Given the description of an element on the screen output the (x, y) to click on. 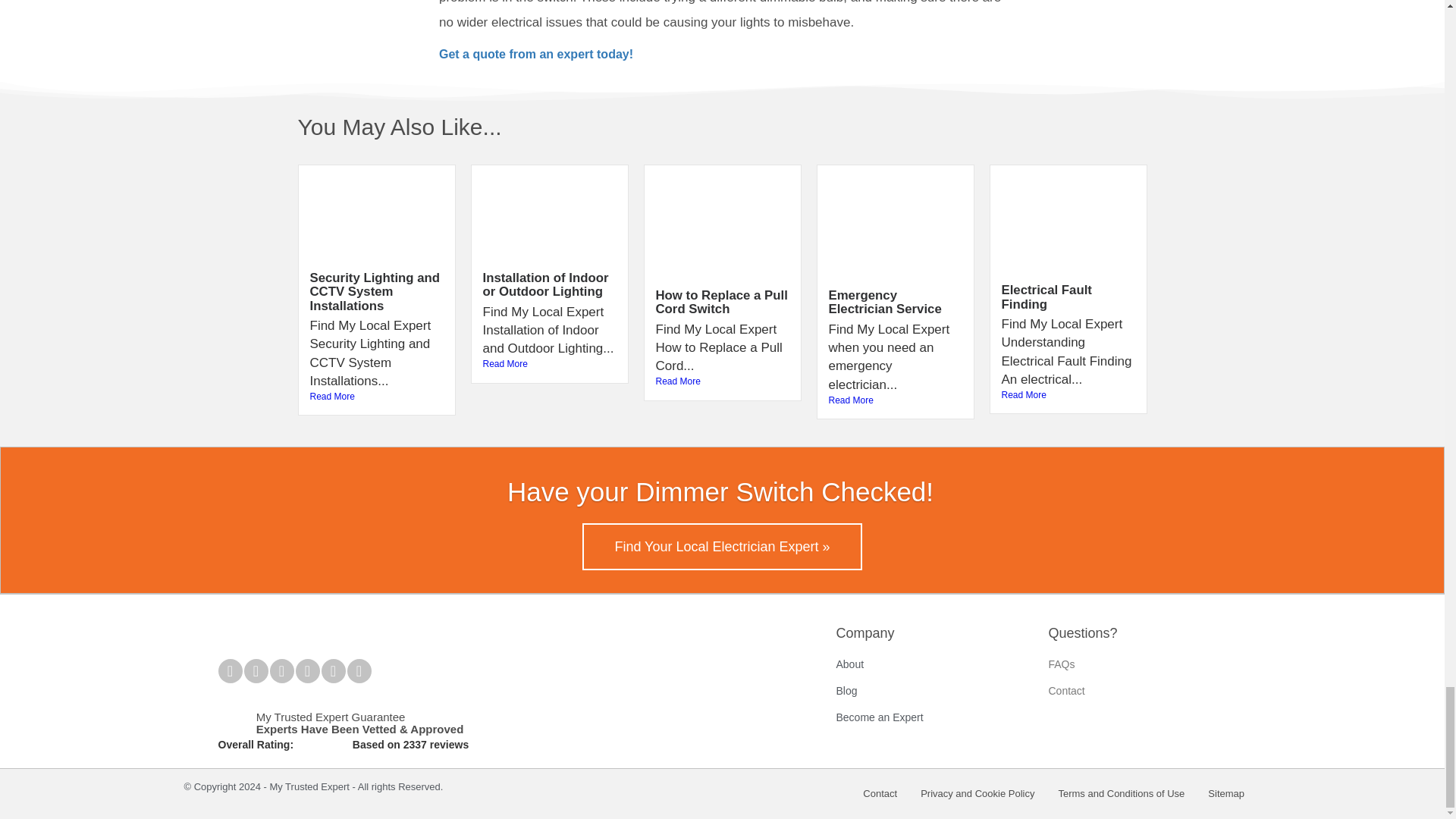
How to Replace a Pull Cord Switch (721, 302)
Read More (375, 396)
About (933, 664)
Become an Expert (933, 717)
Emergency Electrician Service (884, 302)
Emergency Electrician Service (884, 302)
Security Lighting and CCTV System Installations (373, 291)
Get a quote from an expert today! (536, 53)
Electrical Fault Finding (1045, 296)
Read More (894, 400)
Read More (548, 364)
Installation of Indoor or Outdoor Lighting (544, 284)
How to Replace a Pull Cord Switch (721, 302)
Read More (1067, 395)
Installation of Indoor or Outdoor Lighting (544, 284)
